Given the description of an element on the screen output the (x, y) to click on. 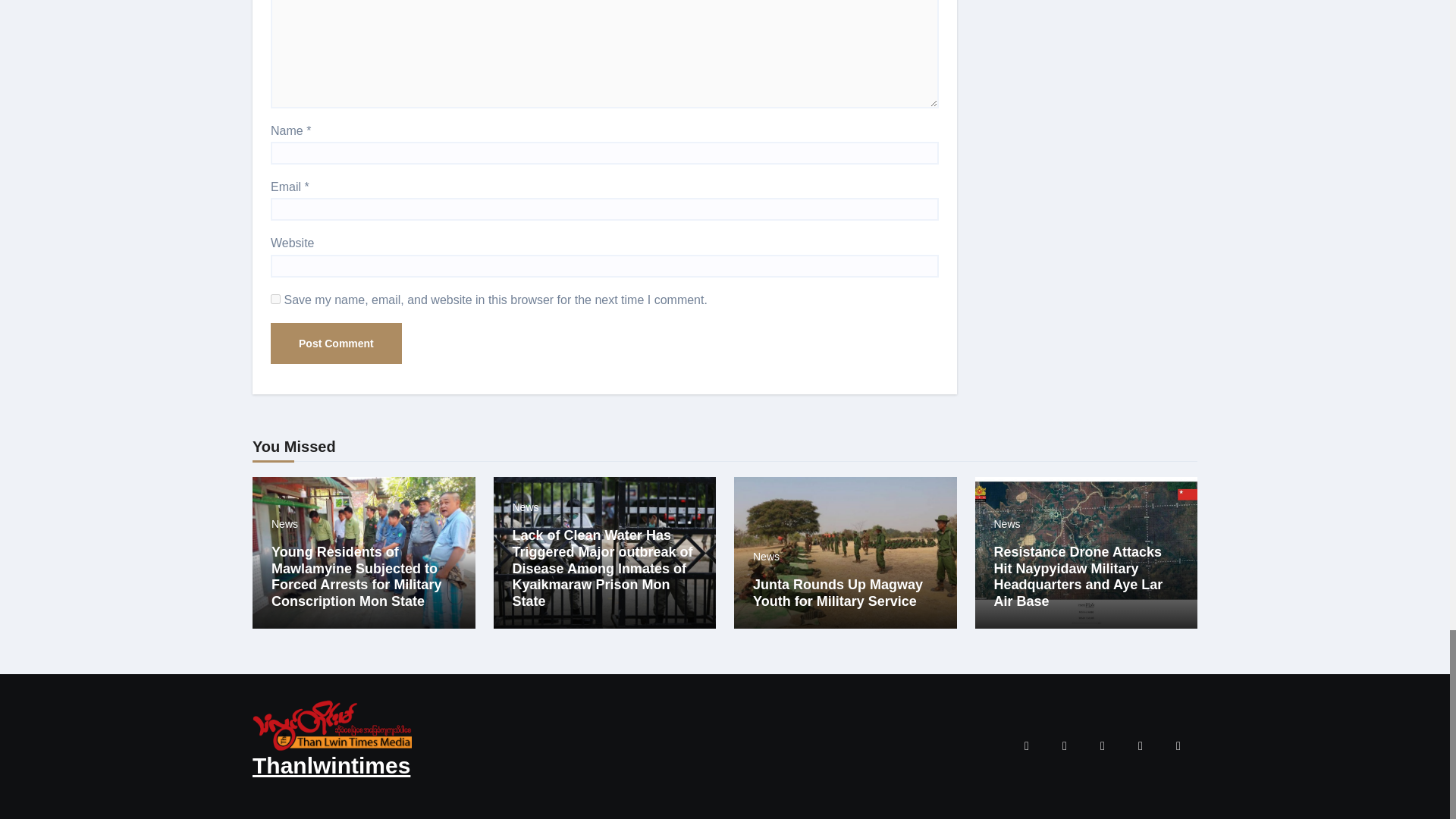
yes (275, 298)
Post Comment (335, 342)
